Given the description of an element on the screen output the (x, y) to click on. 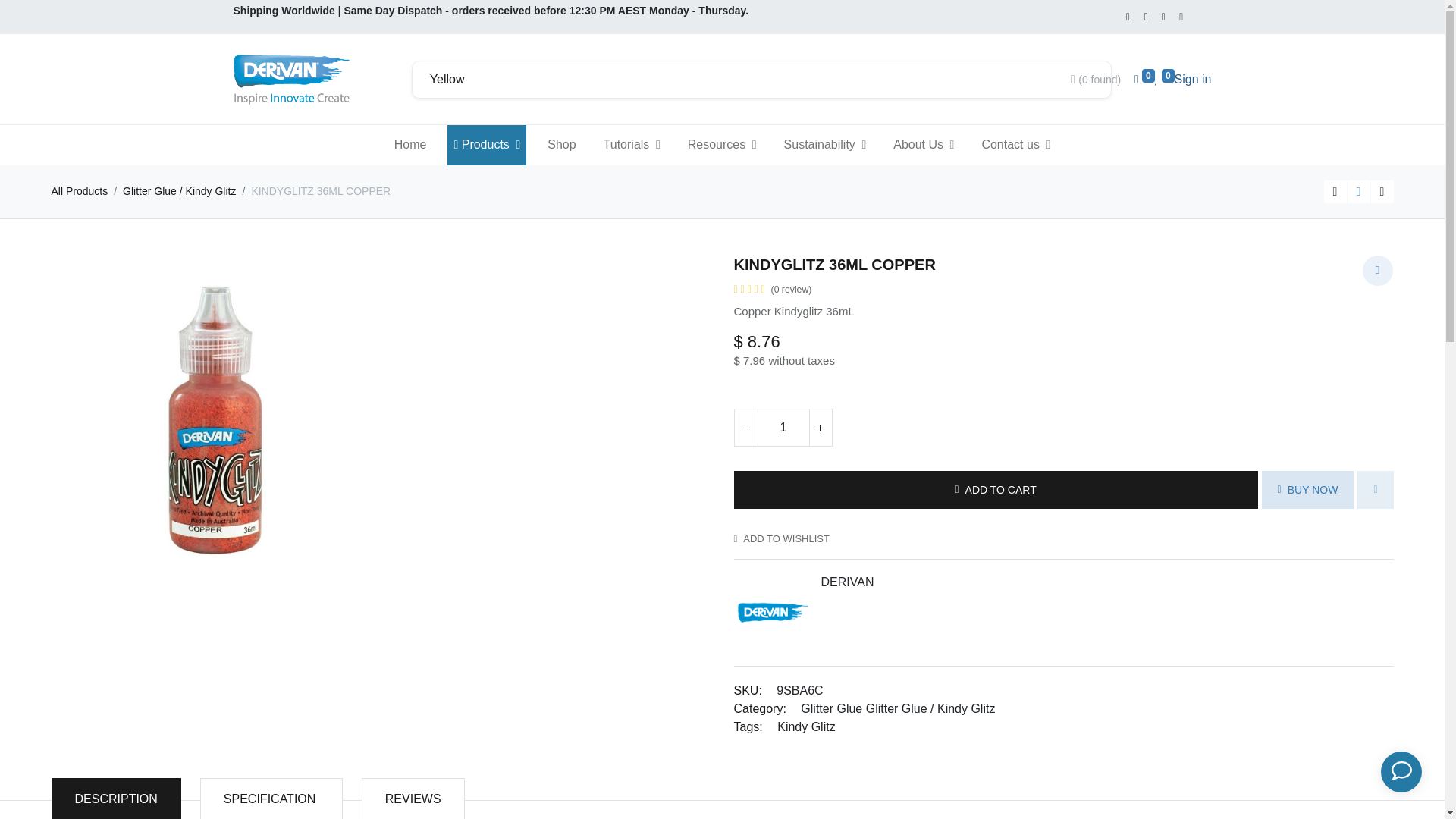
Sign in (1192, 78)
Home (410, 145)
0 (1144, 78)
Derivan B2C Website (291, 79)
1 (783, 427)
Yellow (742, 79)
Yellow (742, 79)
Search (1089, 79)
0 (1164, 78)
Products (485, 145)
